Given the description of an element on the screen output the (x, y) to click on. 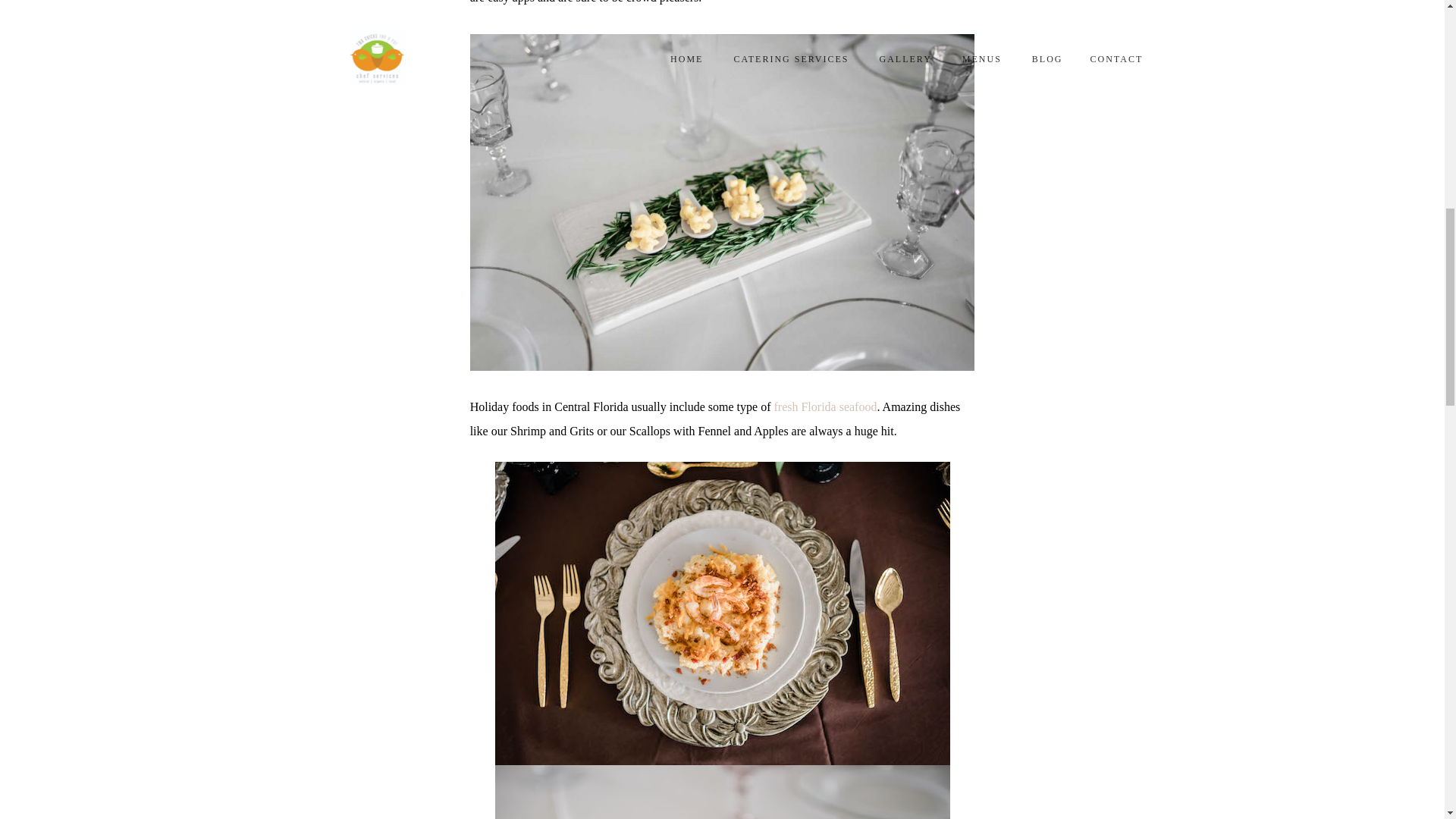
fresh Florida seafood (824, 406)
